Given the description of an element on the screen output the (x, y) to click on. 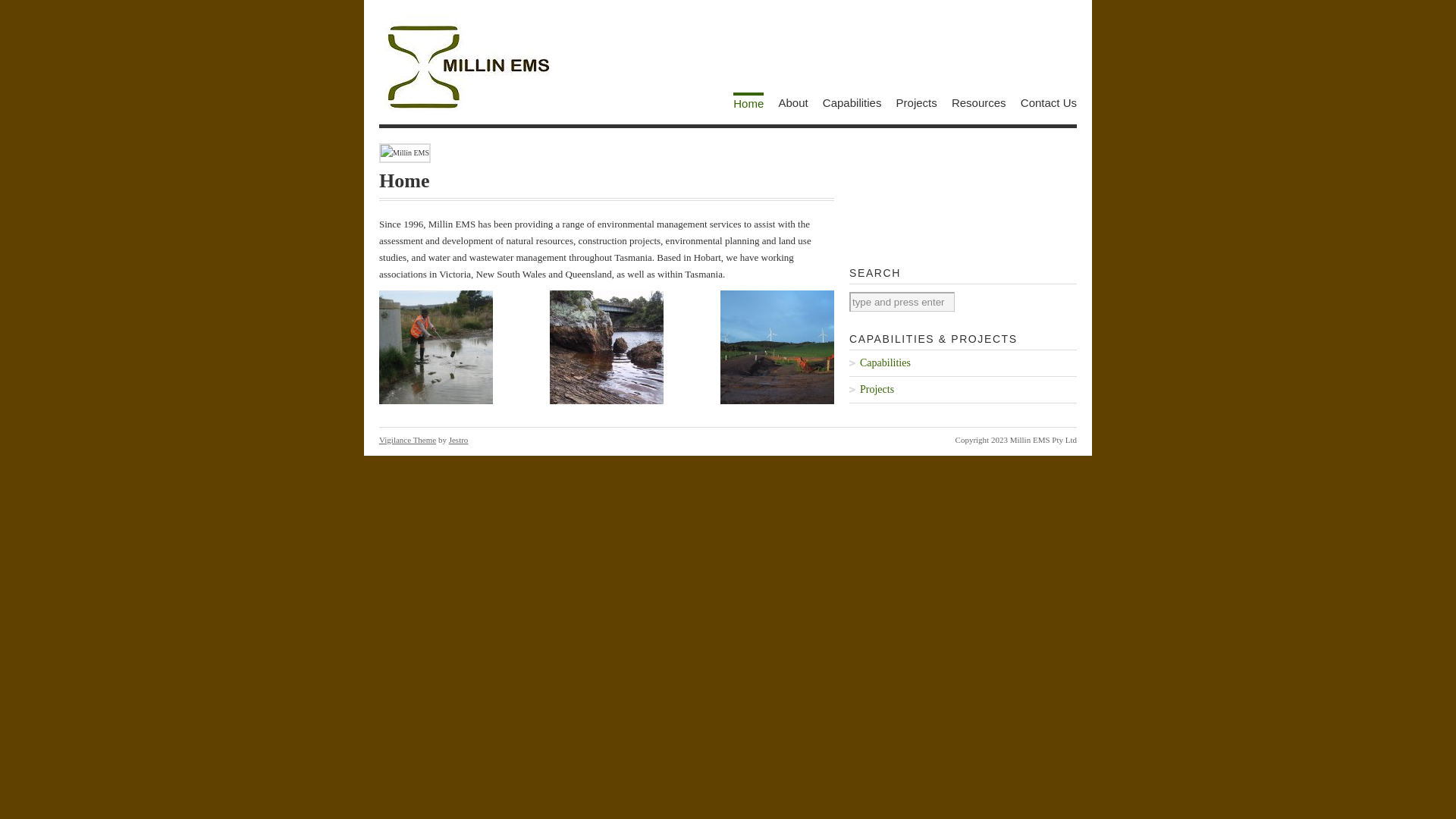
Contact Us Element type: text (1048, 102)
Home Element type: text (748, 100)
rocks1 Element type: hover (606, 347)
img_3159 Element type: hover (435, 347)
Projects Element type: text (916, 102)
Capabilities Element type: text (851, 102)
Projects Element type: text (962, 389)
Jestro Element type: text (458, 439)
Capabilities Element type: text (962, 362)
Resources Element type: text (978, 102)
Vigilance Theme Element type: text (407, 439)
About Element type: text (792, 102)
woolnorth-windfarms Element type: hover (777, 347)
